Given the description of an element on the screen output the (x, y) to click on. 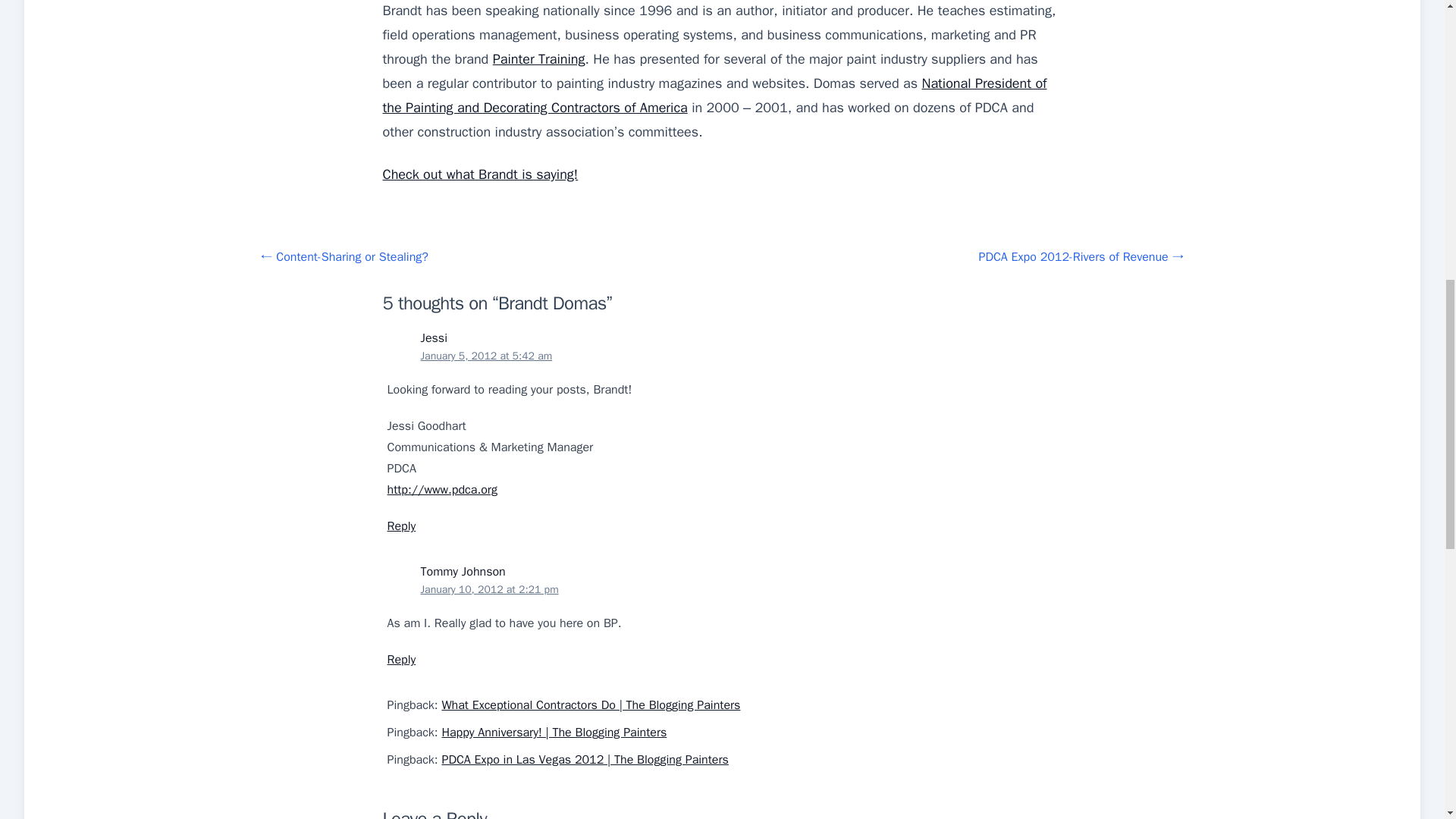
Check out what Brandt is saying! (479, 174)
PDCA (713, 95)
Painter Training (539, 58)
Jessi (433, 337)
Painter Training (539, 58)
Brandt Domas (479, 174)
